Given the description of an element on the screen output the (x, y) to click on. 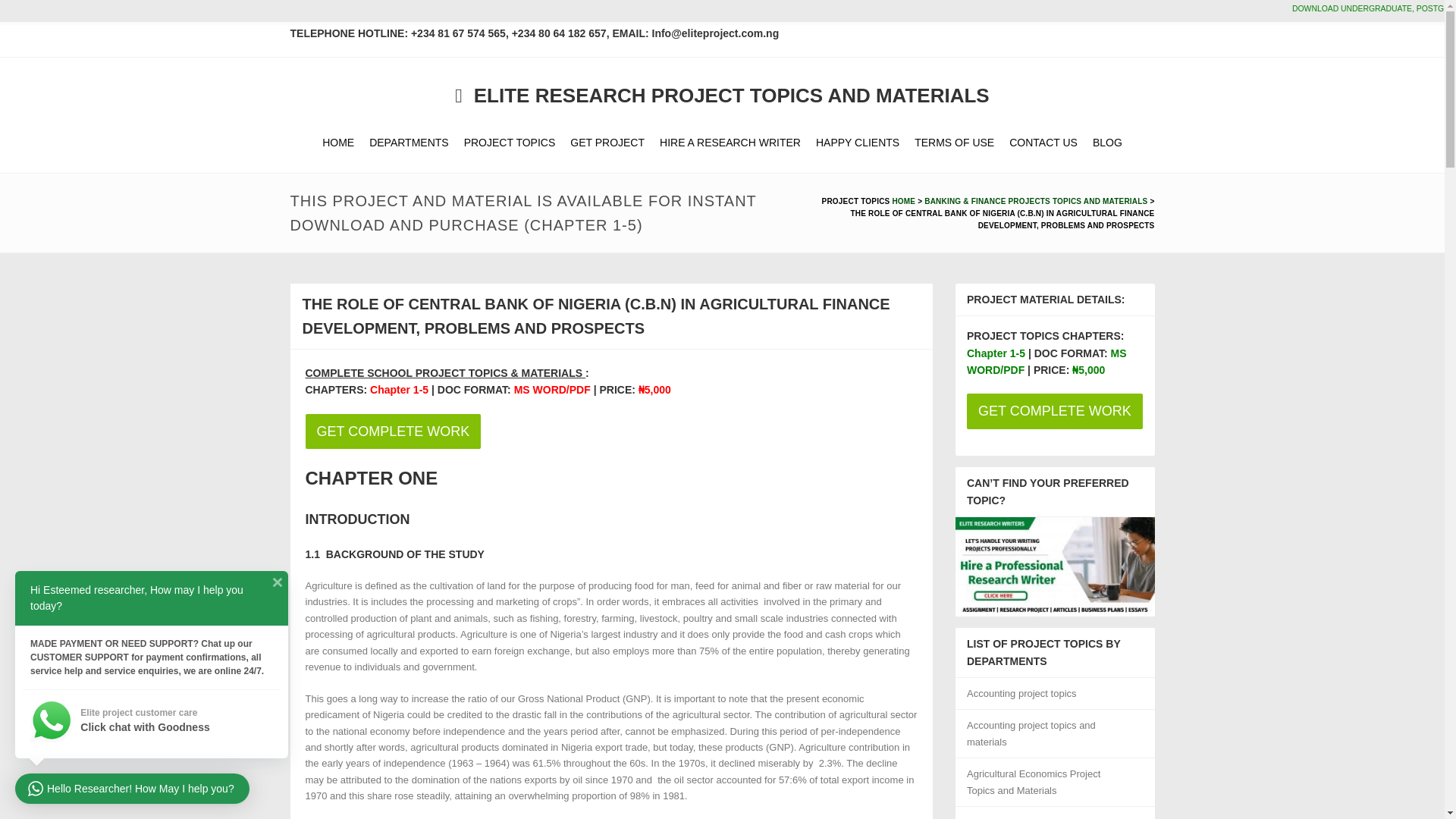
GET COMPLETE WORK (610, 431)
HAPPY CLIENTS (857, 142)
HIRE A RESEARCH WRITER (730, 142)
PROJECT TOPICS (510, 142)
CONTACT US (1042, 142)
BLOG (1106, 142)
TERMS OF USE (954, 142)
GET PROJECT (607, 142)
DEPARTMENTS (409, 142)
GET COMPLETE WORK (392, 431)
